Given the description of an element on the screen output the (x, y) to click on. 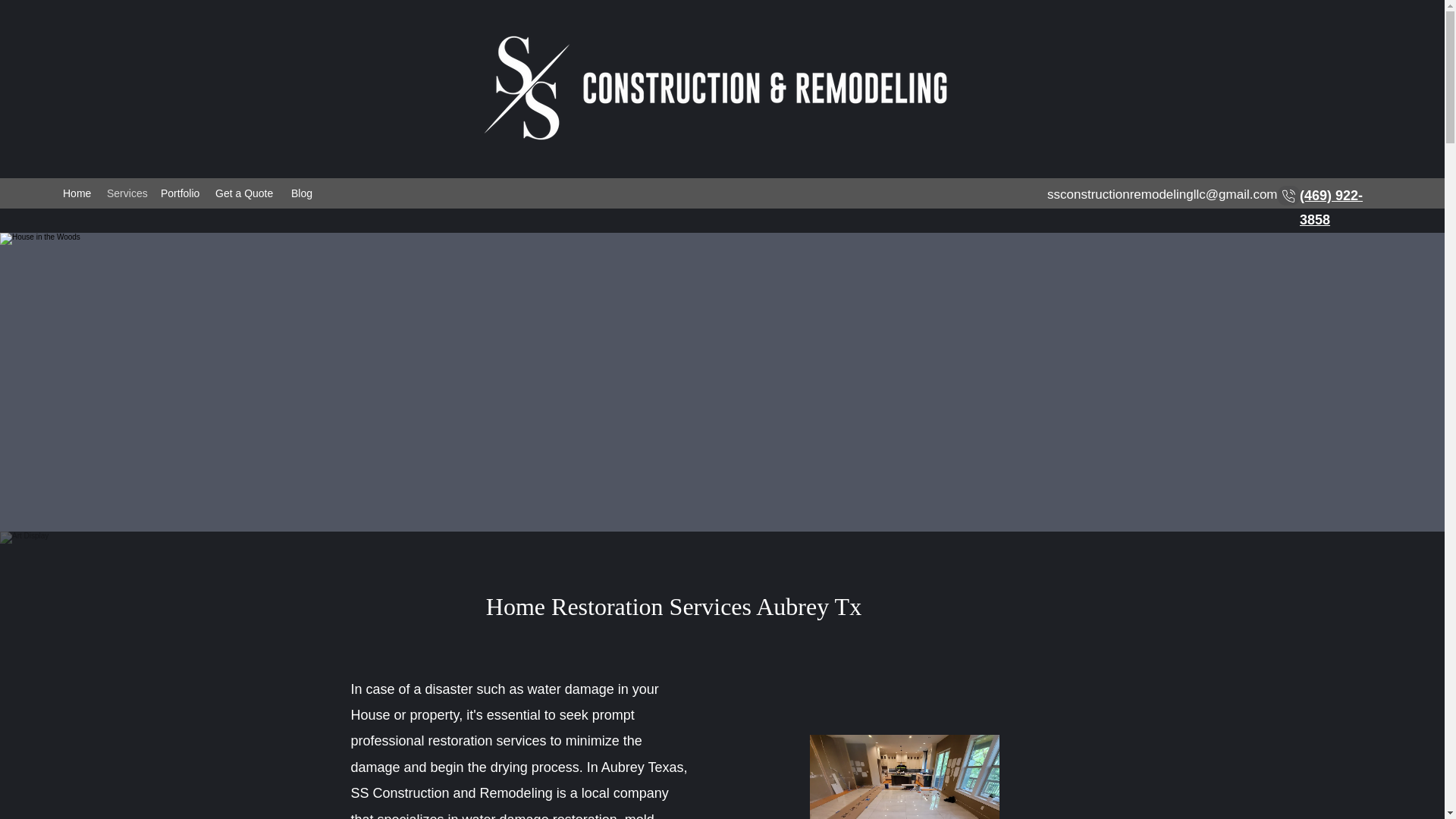
Get a Quote (245, 192)
Portfolio (180, 192)
Blog (301, 192)
Home (77, 192)
Services (125, 192)
